Given the description of an element on the screen output the (x, y) to click on. 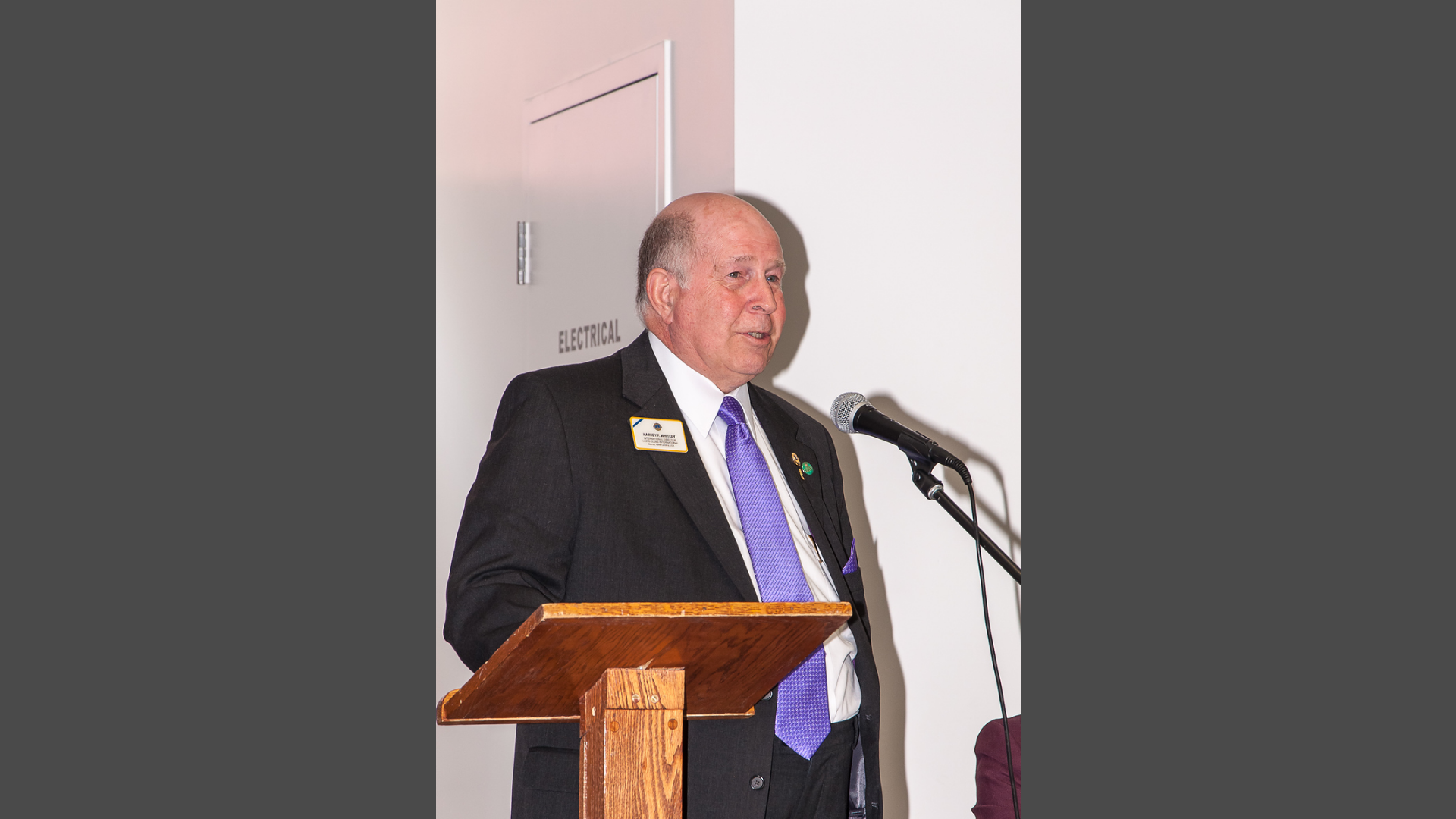
GENERAL EVENTS Element type: text (683, 283)
PLACES Element type: text (1243, 283)
HOME Element type: text (133, 283)
SPORTS Element type: text (1317, 283)
Lions Conventions Element type: text (132, 354)
FASHION Element type: text (566, 283)
Slideshow Element type: hover (1428, 493)
MUSIC Element type: text (1020, 283)
PEOPLE Element type: text (1169, 283)
CLUB Element type: text (495, 283)
http://www.hypnotistrobertmaxwell.com Element type: text (1000, 485)
Share Gallery Element type: hover (1391, 493)
ARCHITECTURE Element type: text (310, 283)
District A-16 Element type: text (230, 354)
Photos@2Smerks.ca Element type: text (485, 409)
LANDSCAPES Element type: text (815, 283)
BROWSE Element type: text (203, 283)
LIONS CLUBS Element type: text (931, 283)
BUSINESS Element type: text (422, 283)
NATURE Element type: text (1093, 283)
SmugMug Element type: hover (59, 22)
